Given the description of an element on the screen output the (x, y) to click on. 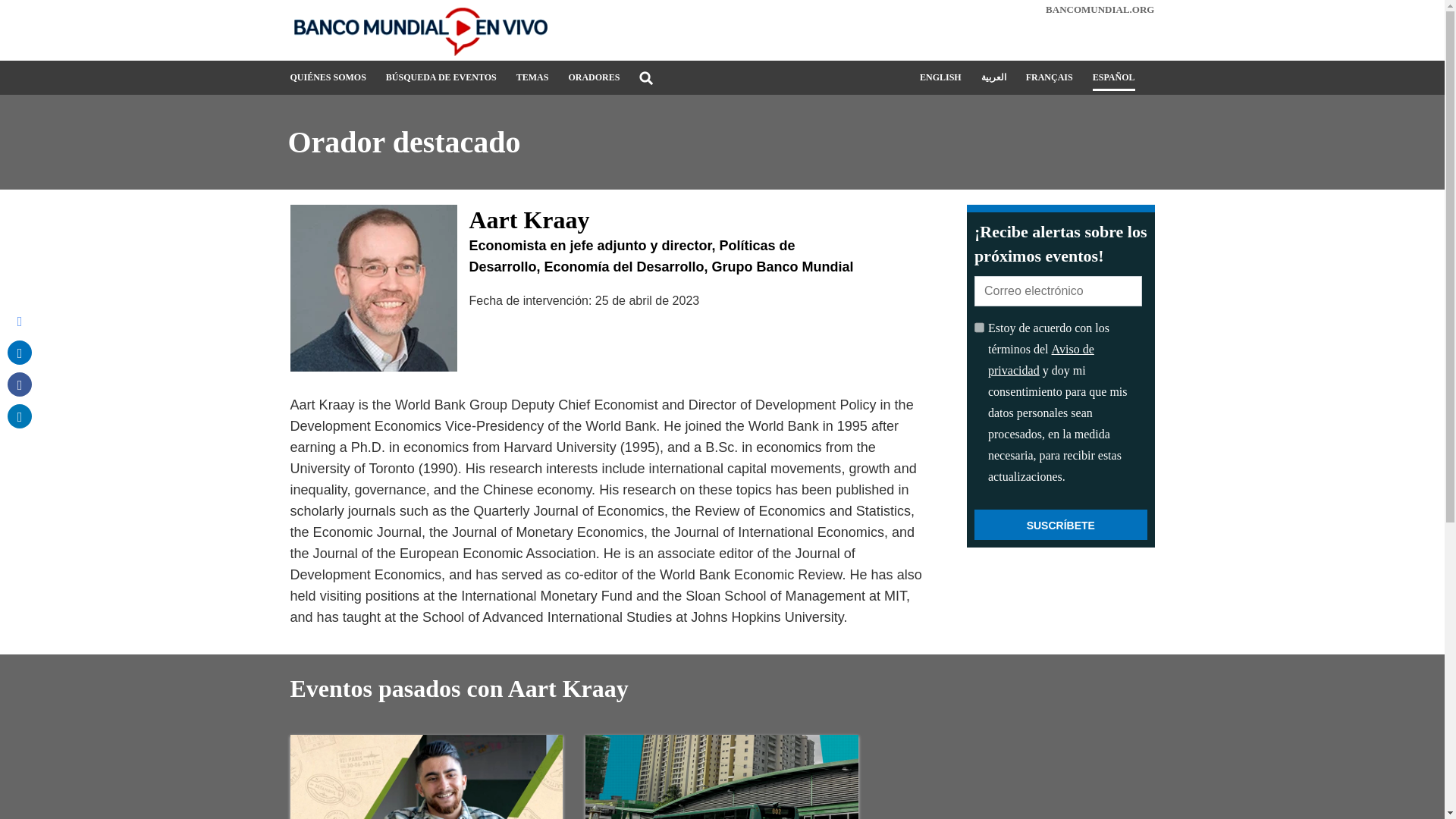
Email (19, 320)
linkedln (19, 416)
ORADORES (593, 82)
Aviso de privacidad (1041, 359)
Banco Mundial En Vivo (425, 30)
ENGLISH (940, 81)
Post (19, 352)
TEMAS (532, 82)
ORADORES (593, 82)
Aart Kraay (373, 287)
BANCOMUNDIAL.ORG (1099, 9)
bancomundial.org (1099, 9)
